Given the description of an element on the screen output the (x, y) to click on. 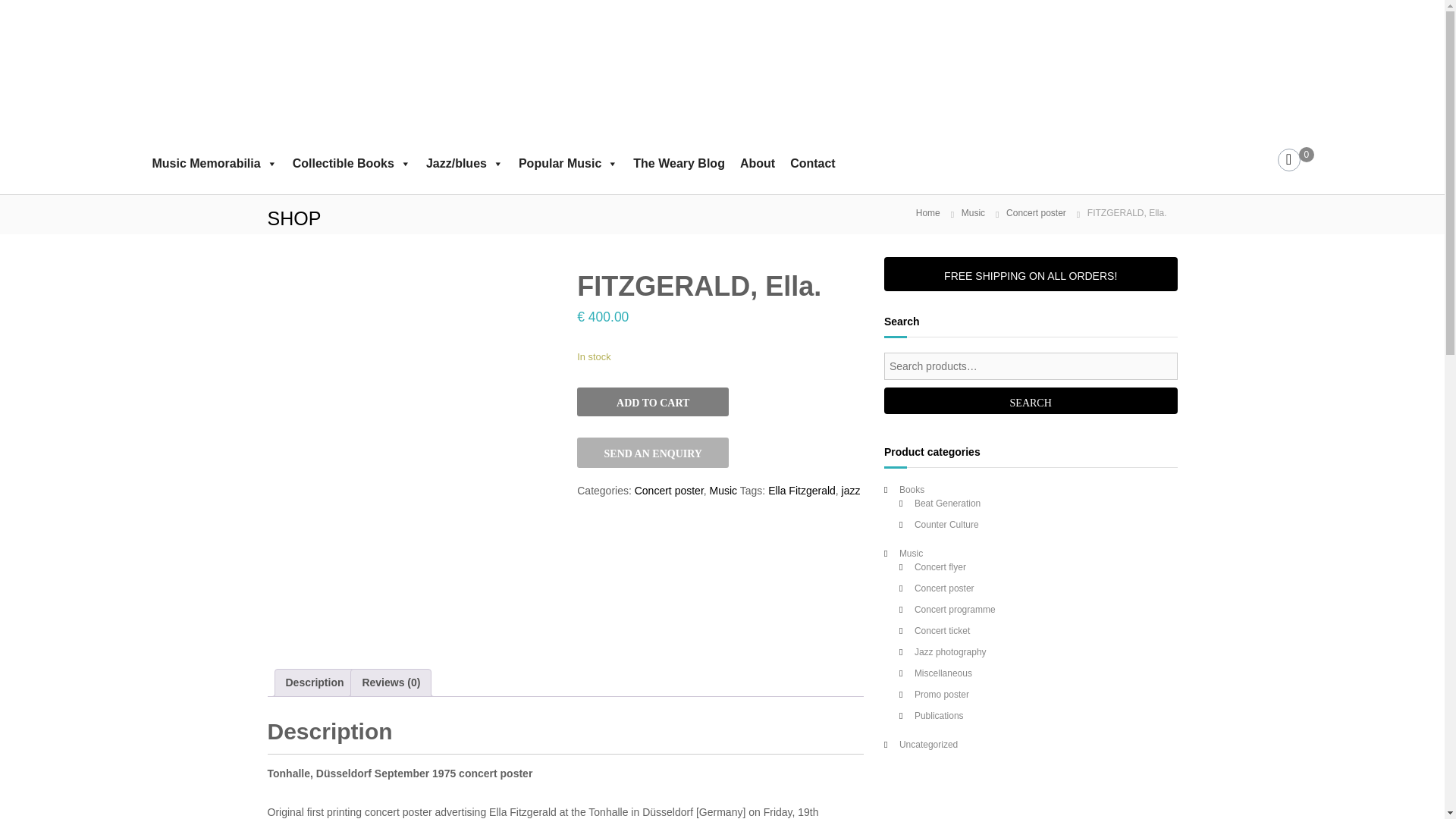
Music Memorabilia (213, 163)
Collectible Books (352, 163)
SEND AN ENQUIRY (652, 452)
